Given the description of an element on the screen output the (x, y) to click on. 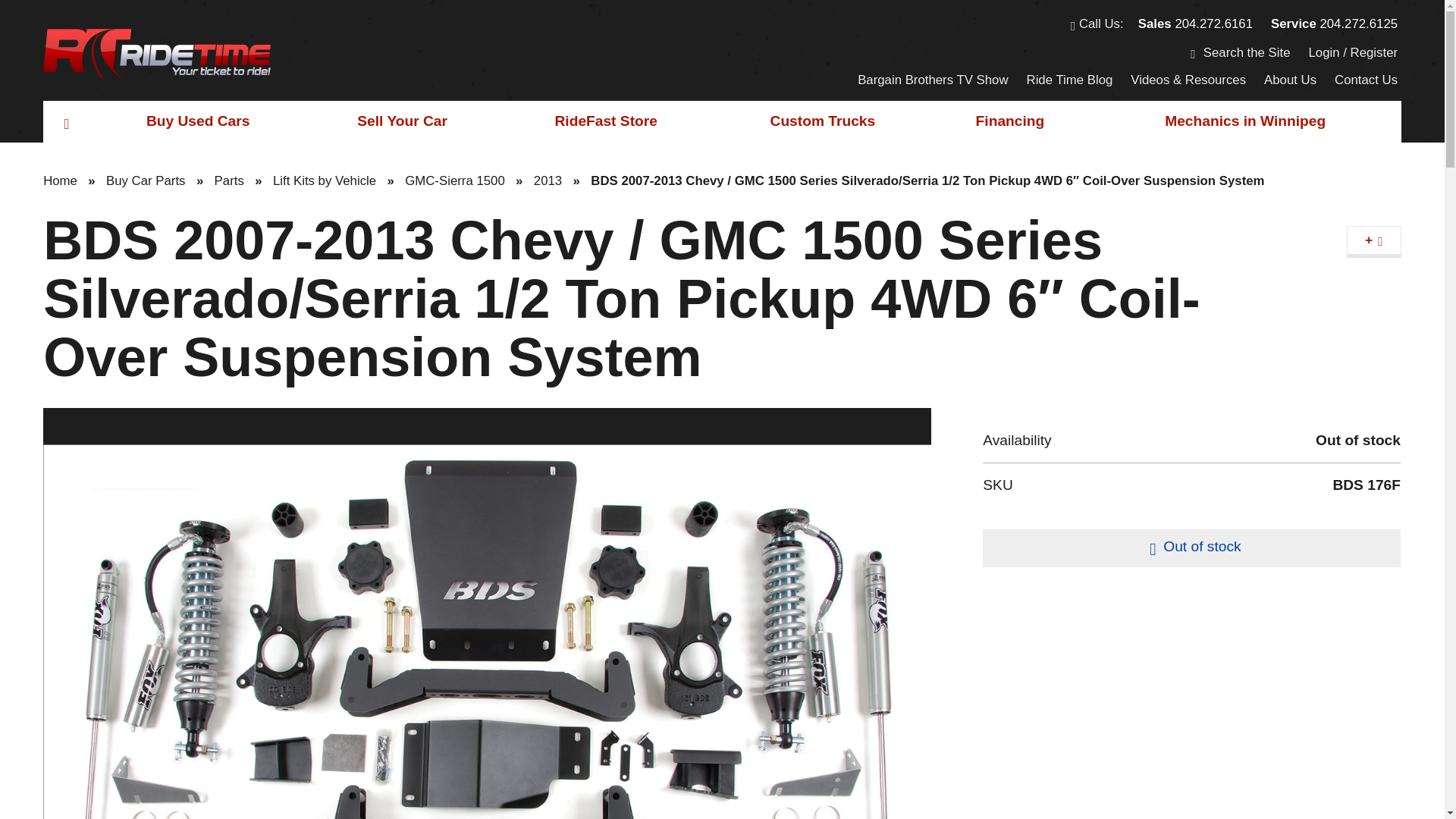
About Us (1290, 80)
Ride Time Blog (1069, 80)
Service 204.272.6125 (1333, 24)
Ride Time (156, 54)
Sales 204.272.6161 (1195, 24)
Buy Used Cars (197, 121)
Bargain Brothers TV Show (932, 80)
Search the Site (1240, 52)
Home (66, 121)
RideFast Store (606, 121)
